Given the description of an element on the screen output the (x, y) to click on. 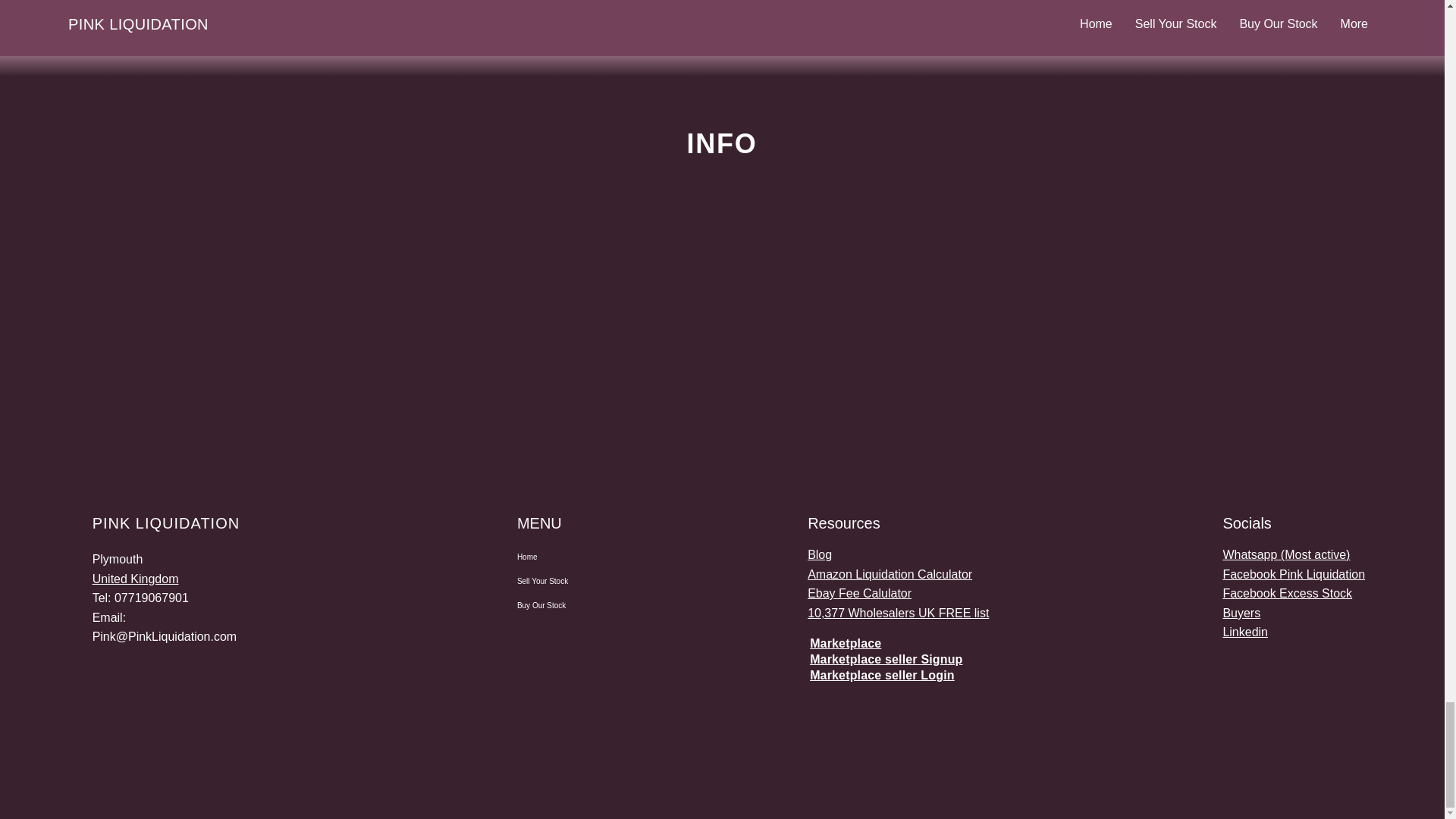
United Kingdom (136, 578)
Amazon Liquidation Calculator (890, 574)
Blog (819, 554)
Buy Our Stock (569, 605)
PINK LIQUIDATION (166, 523)
Sell Your Stock (569, 581)
Home (569, 557)
